Given the description of an element on the screen output the (x, y) to click on. 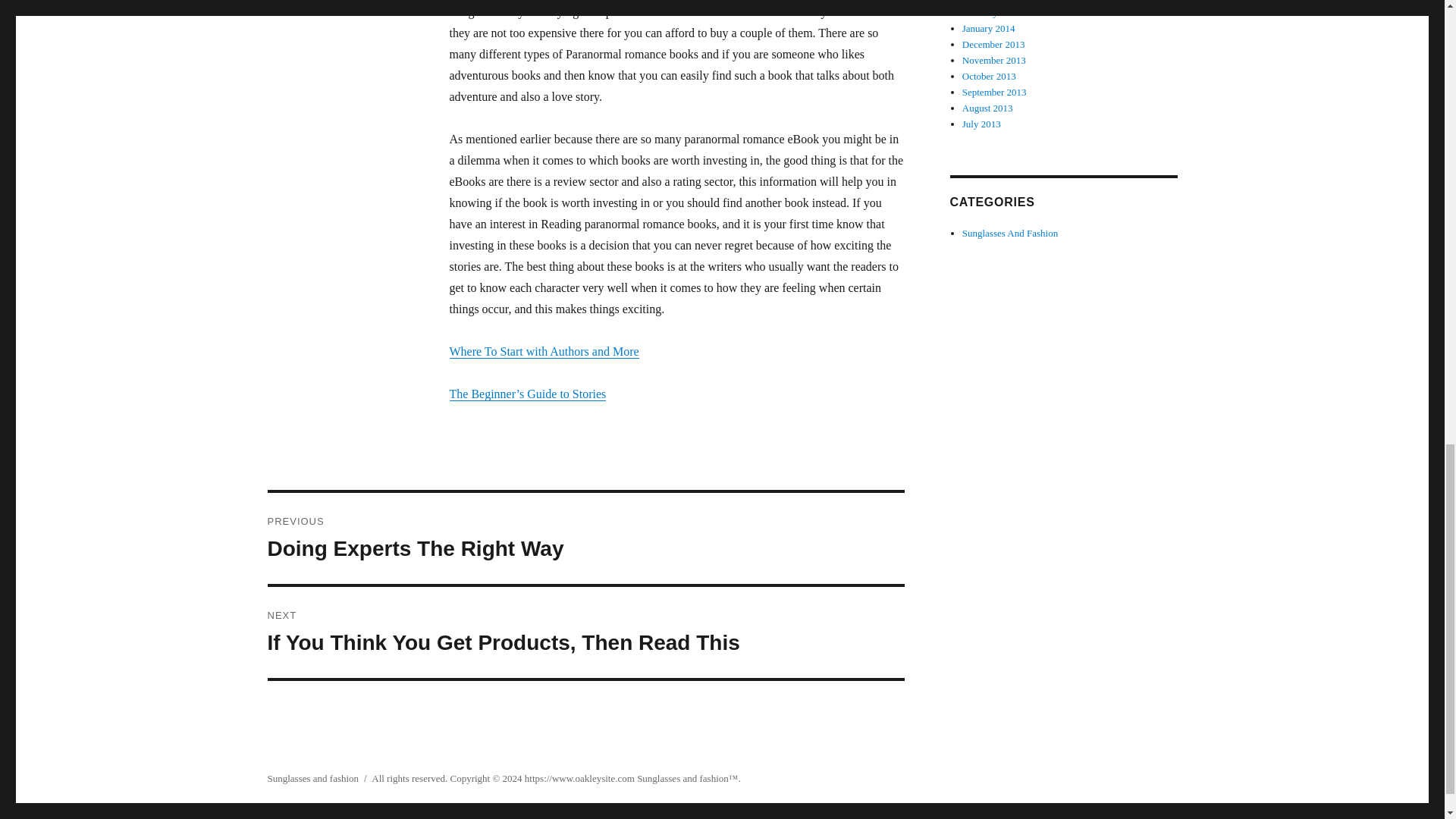
January 2014 (988, 28)
December 2013 (993, 43)
Sunglasses and fashion (312, 778)
September 2013 (994, 91)
Sunglasses And Fashion (1010, 233)
February 2014 (991, 12)
Where To Start with Authors and More (543, 350)
July 2013 (585, 538)
